Given the description of an element on the screen output the (x, y) to click on. 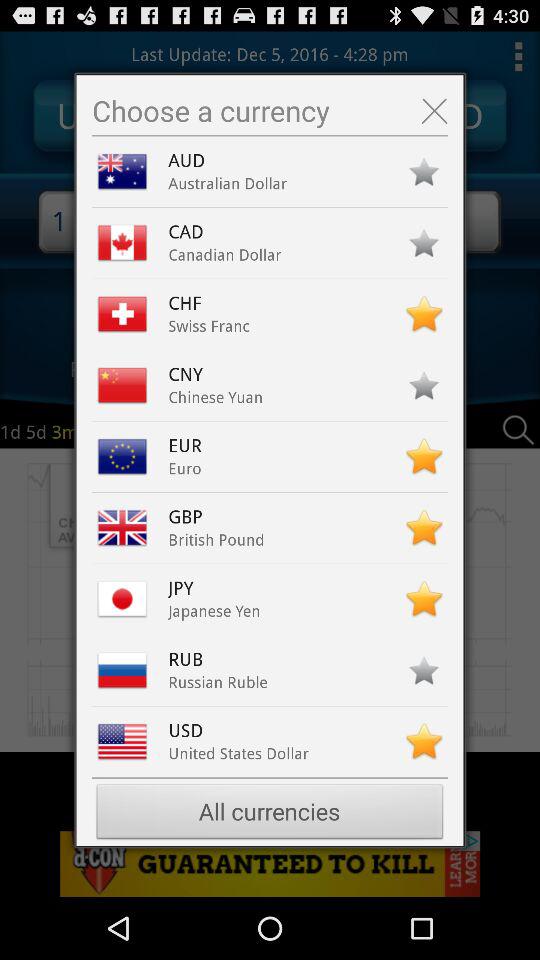
select eur (189, 445)
